Given the description of an element on the screen output the (x, y) to click on. 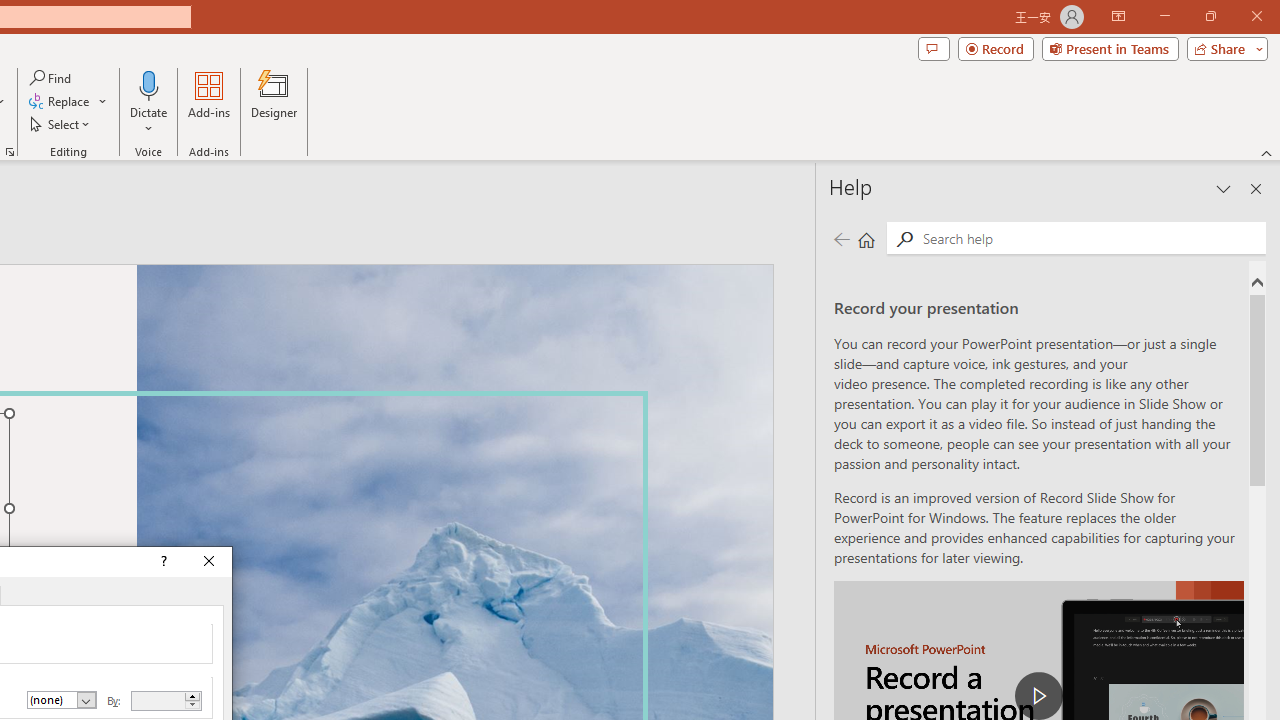
By (157, 700)
Context help (162, 561)
